Given the description of an element on the screen output the (x, y) to click on. 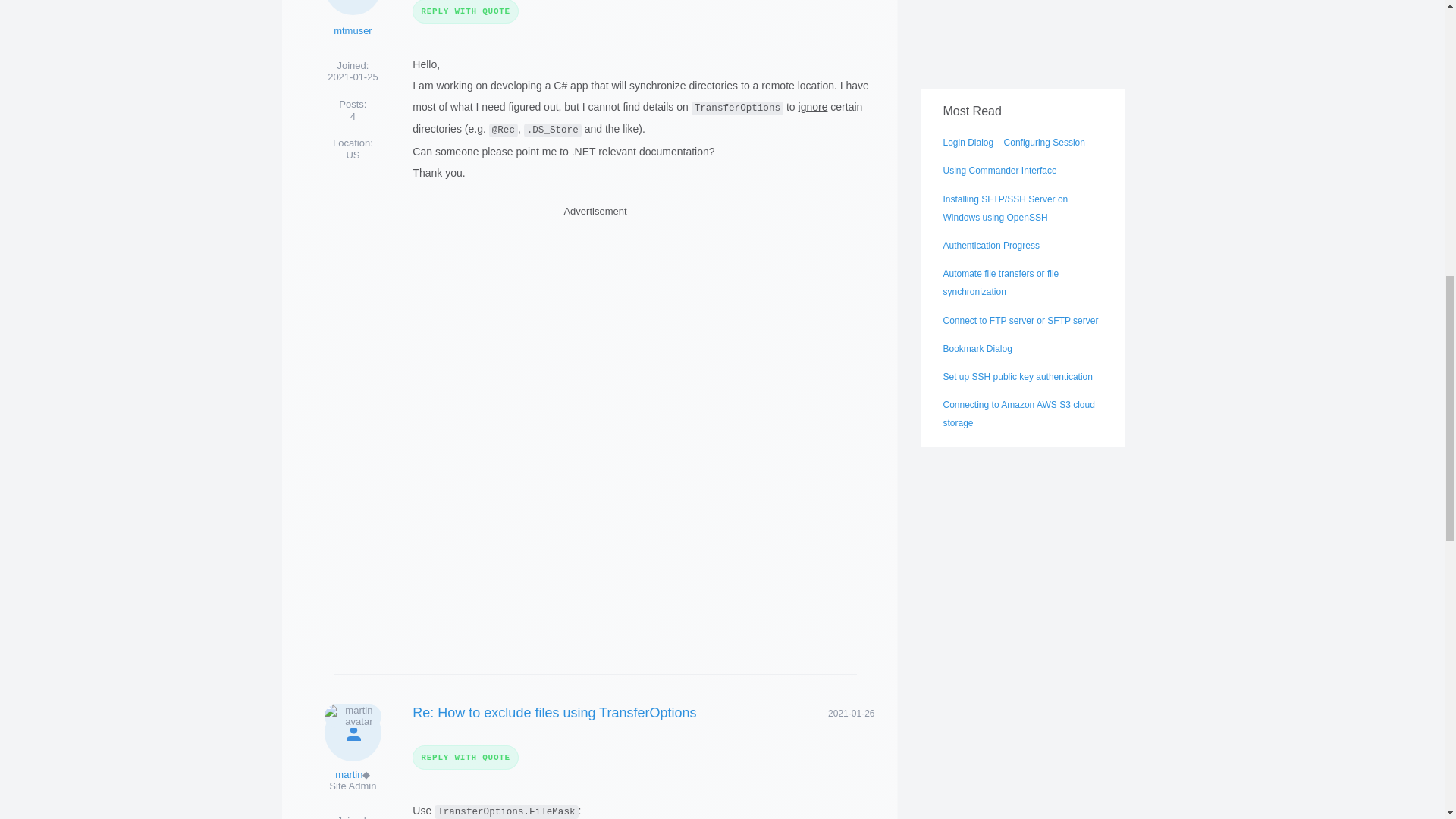
Advertisement (1022, 31)
REPLY WITH QUOTE (465, 757)
REPLY WITH QUOTE (465, 12)
martin (348, 774)
Authentication Progress (991, 245)
mtmuser (352, 30)
Advertisement (595, 538)
Using Commander Interface (1000, 170)
2021-01-26 (850, 713)
